Given the description of an element on the screen output the (x, y) to click on. 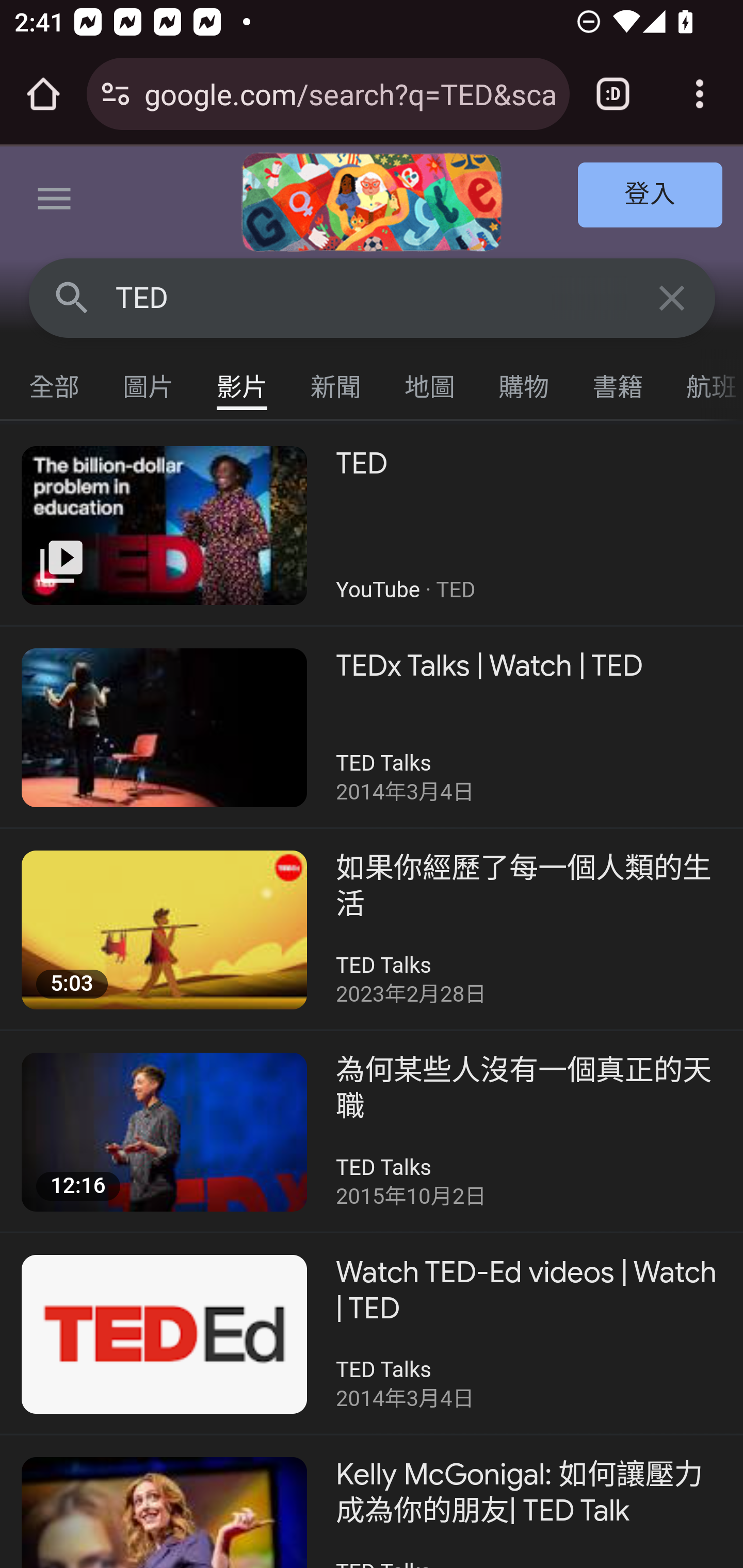
Open the home page (43, 93)
Connection is secure (115, 93)
Switch or close tabs (612, 93)
Customize and control Google Chrome (699, 93)
2024 年國際婦女節 (371, 202)
主選單 (54, 202)
登入 (650, 195)
Google 搜尋 (71, 296)
清除搜尋內容 (672, 296)
TED (372, 297)
全部 (54, 382)
圖片 (148, 382)
新聞 (336, 382)
地圖 (430, 382)
購物 (524, 382)
書籍 (618, 382)
航班 (703, 382)
TED 喺YouTube發佈嘅TED影片 (371, 524)
